Given the description of an element on the screen output the (x, y) to click on. 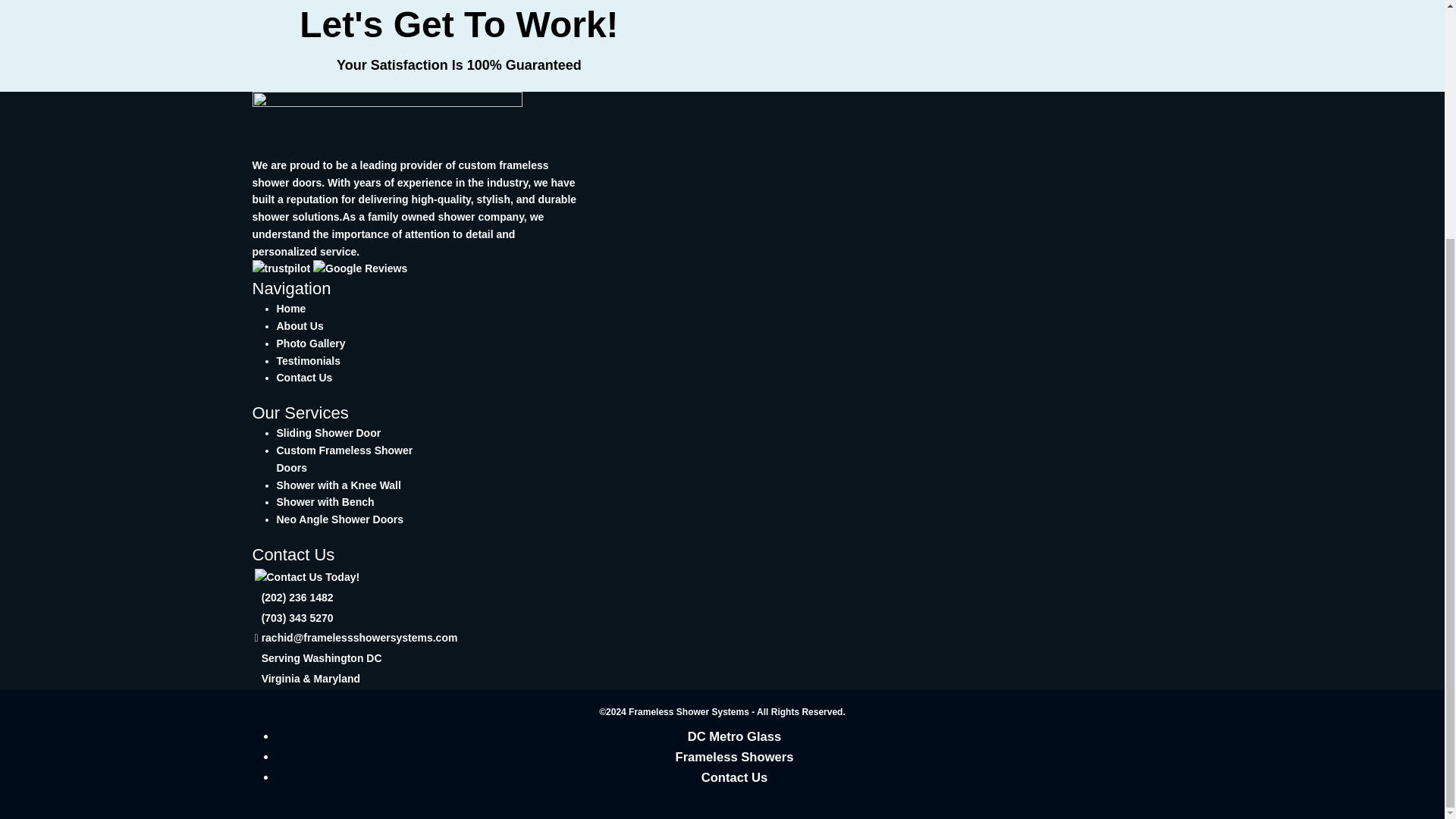
Sliding Shower Door (328, 432)
Shower with a Knee Wall (338, 485)
Neo Angle Shower Doors (339, 519)
Contact Us (303, 377)
About Us (299, 326)
Photo Gallery (310, 343)
Custom Frameless Shower Doors (344, 459)
Testimonials (308, 360)
Home (290, 308)
Shower with Bench (325, 501)
Testimonials (357, 361)
